Given the description of an element on the screen output the (x, y) to click on. 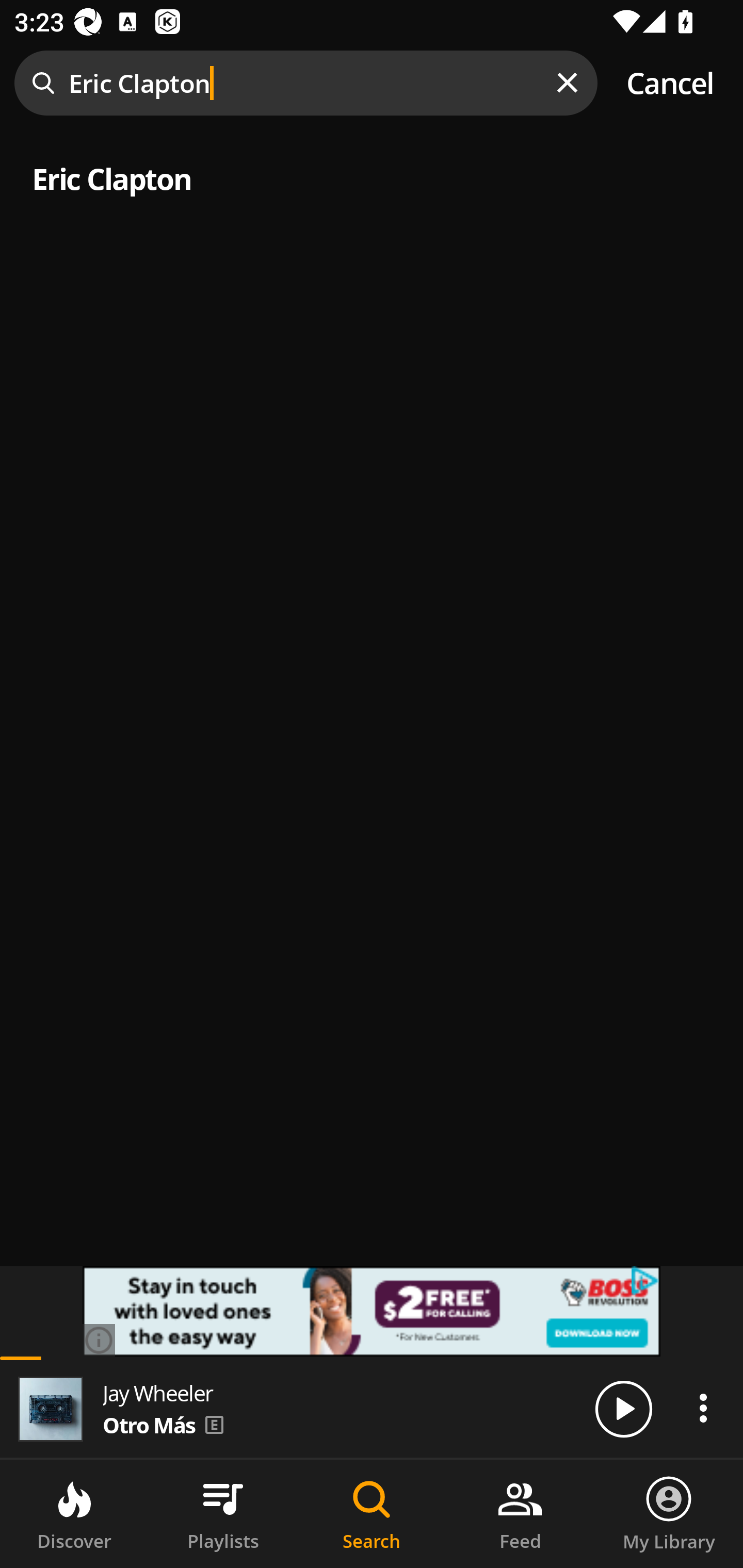
Eric Clapton Cancel (371, 82)
Cancel (670, 82)
Artists, songs, albums and playlists… (371, 191)
privacy (645, 1280)
Actions (703, 1407)
Play/Pause (623, 1408)
Discover (74, 1513)
Playlists (222, 1513)
Search (371, 1513)
Feed (519, 1513)
My Library (668, 1513)
